Given the description of an element on the screen output the (x, y) to click on. 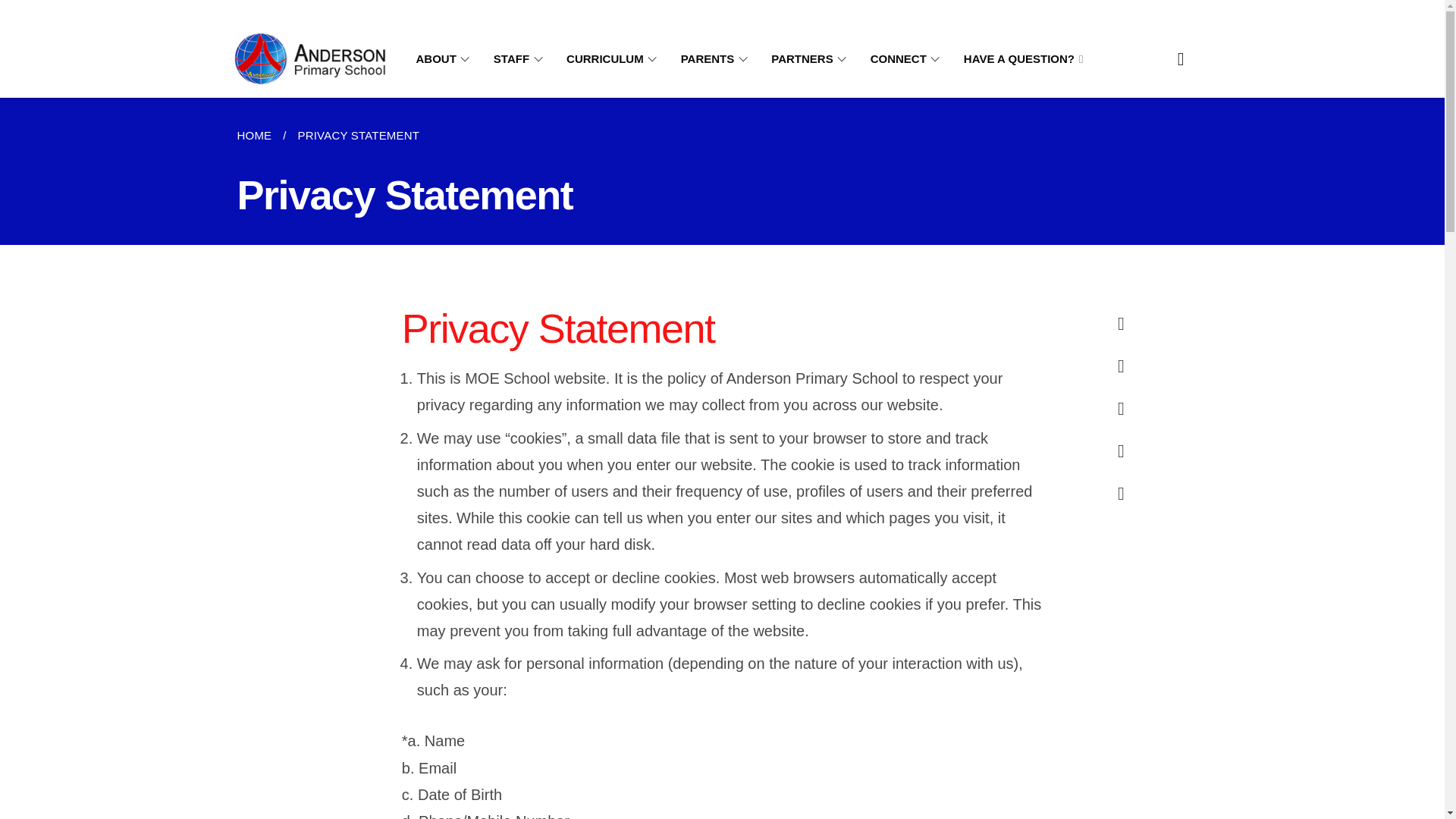
HAVE A QUESTION? (1023, 59)
PARENTS (717, 59)
PARTNERS (811, 59)
PRIVACY STATEMENT (357, 135)
CURRICULUM (614, 59)
CONNECT (907, 59)
HOME (258, 135)
